Given the description of an element on the screen output the (x, y) to click on. 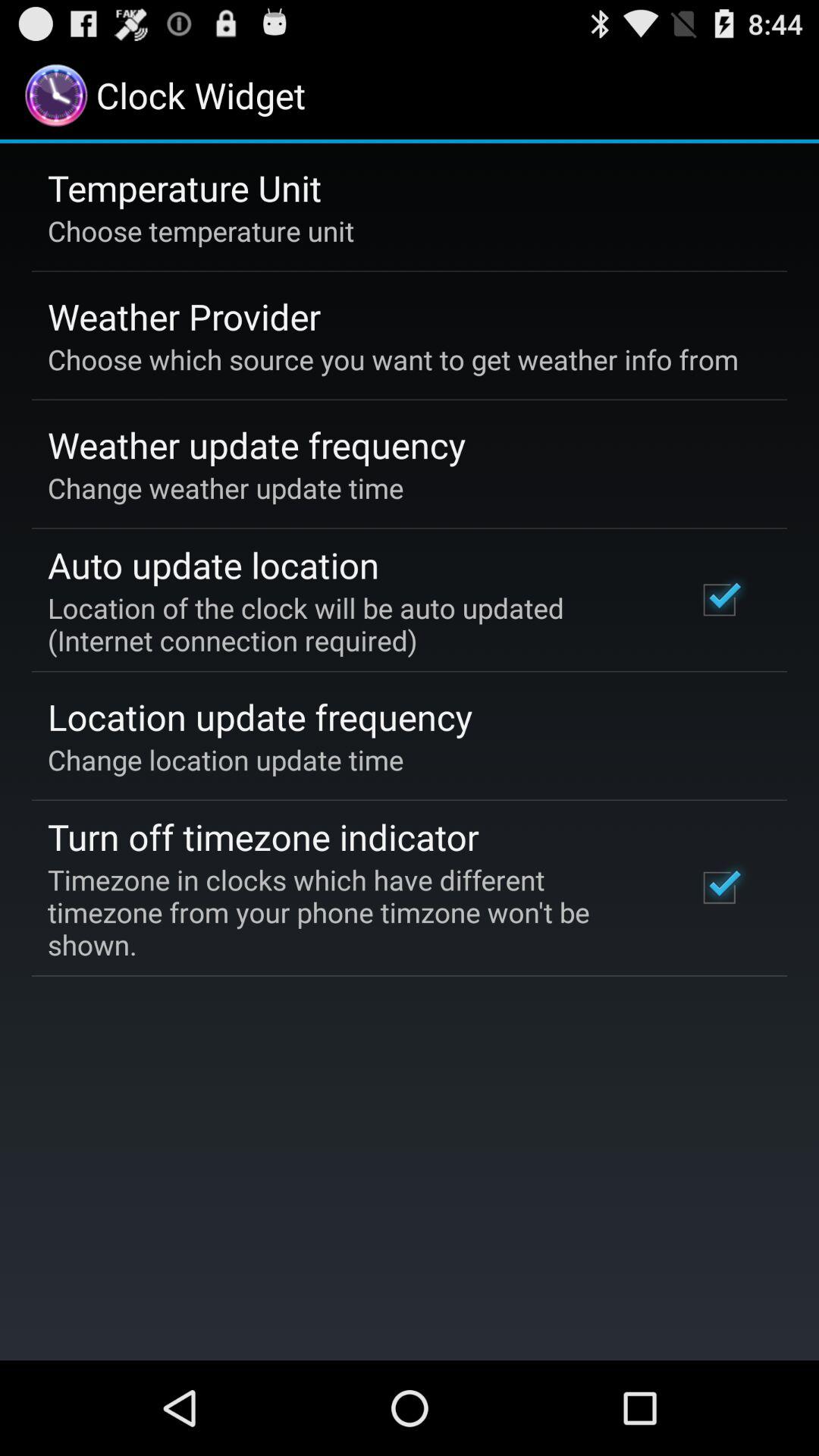
click location of the item (351, 624)
